Given the description of an element on the screen output the (x, y) to click on. 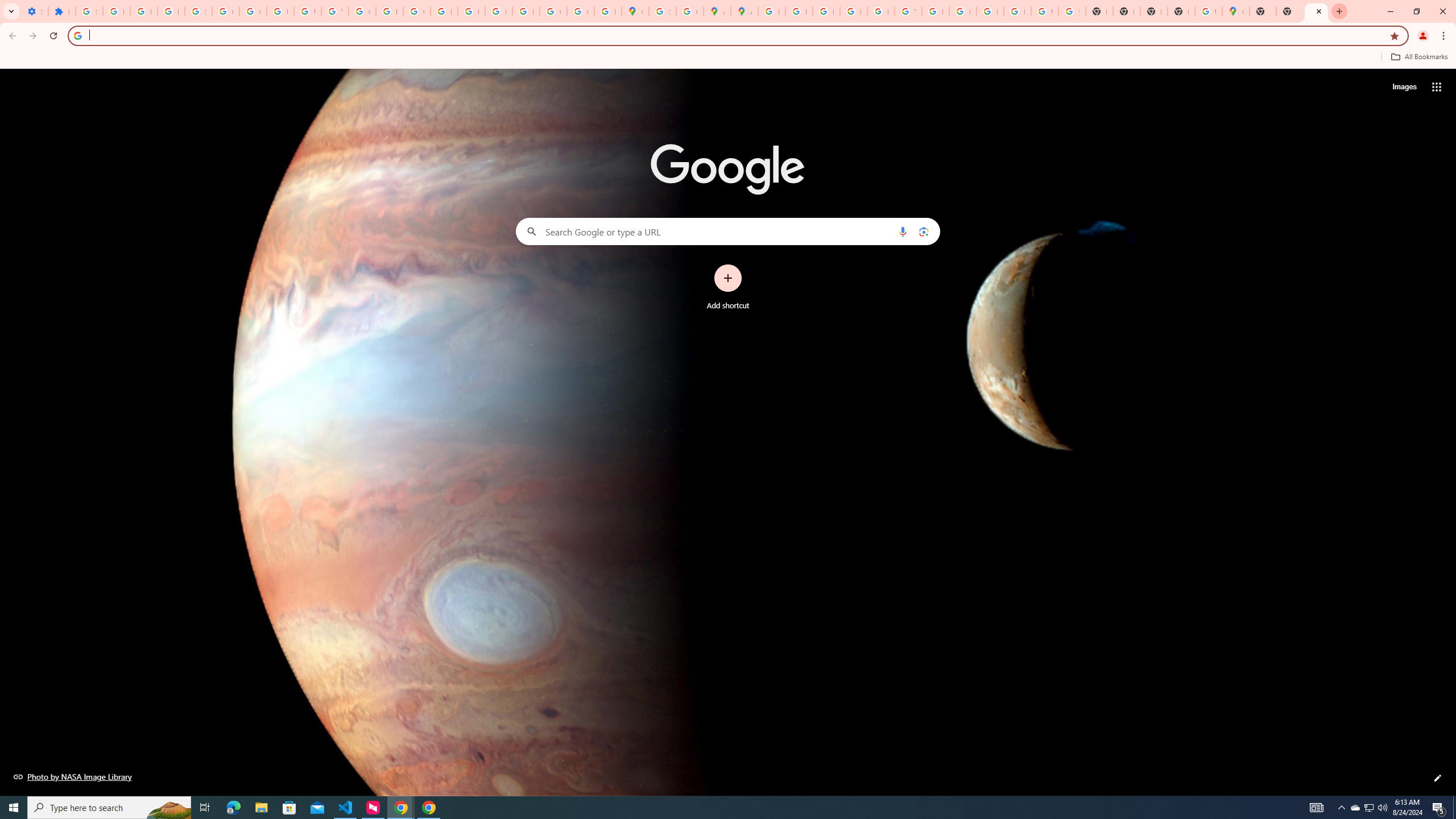
Sign in - Google Accounts (197, 11)
Settings - On startup (34, 11)
Search Google or type a URL (727, 230)
Privacy Help Center - Policies Help (799, 11)
YouTube (334, 11)
YouTube (908, 11)
Customize this page (1437, 778)
